Given the description of an element on the screen output the (x, y) to click on. 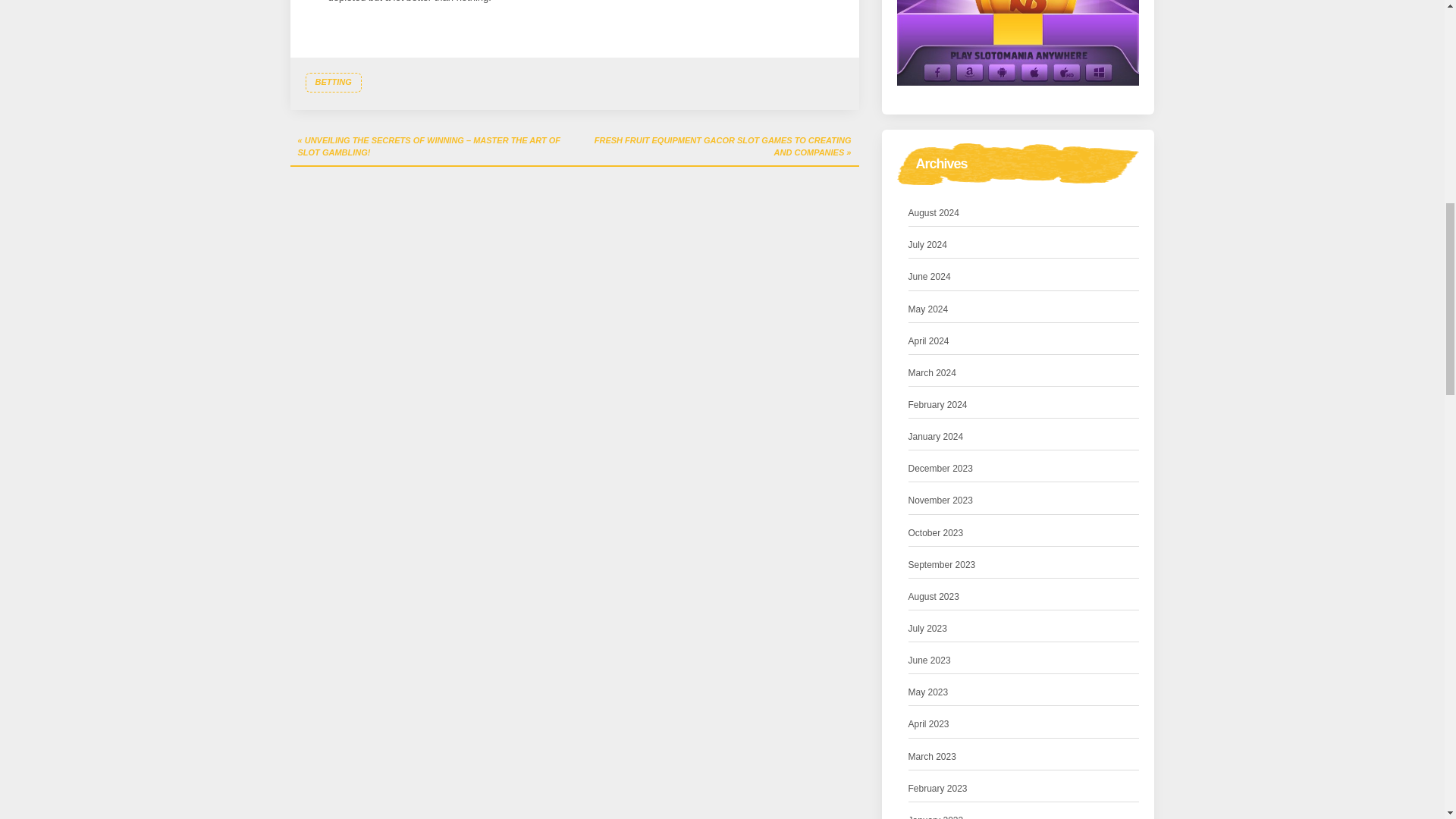
July 2024 (927, 245)
November 2023 (940, 500)
April 2023 (928, 724)
June 2023 (929, 660)
July 2023 (927, 628)
April 2024 (928, 341)
February 2023 (938, 788)
December 2023 (940, 468)
March 2023 (932, 756)
